Given the description of an element on the screen output the (x, y) to click on. 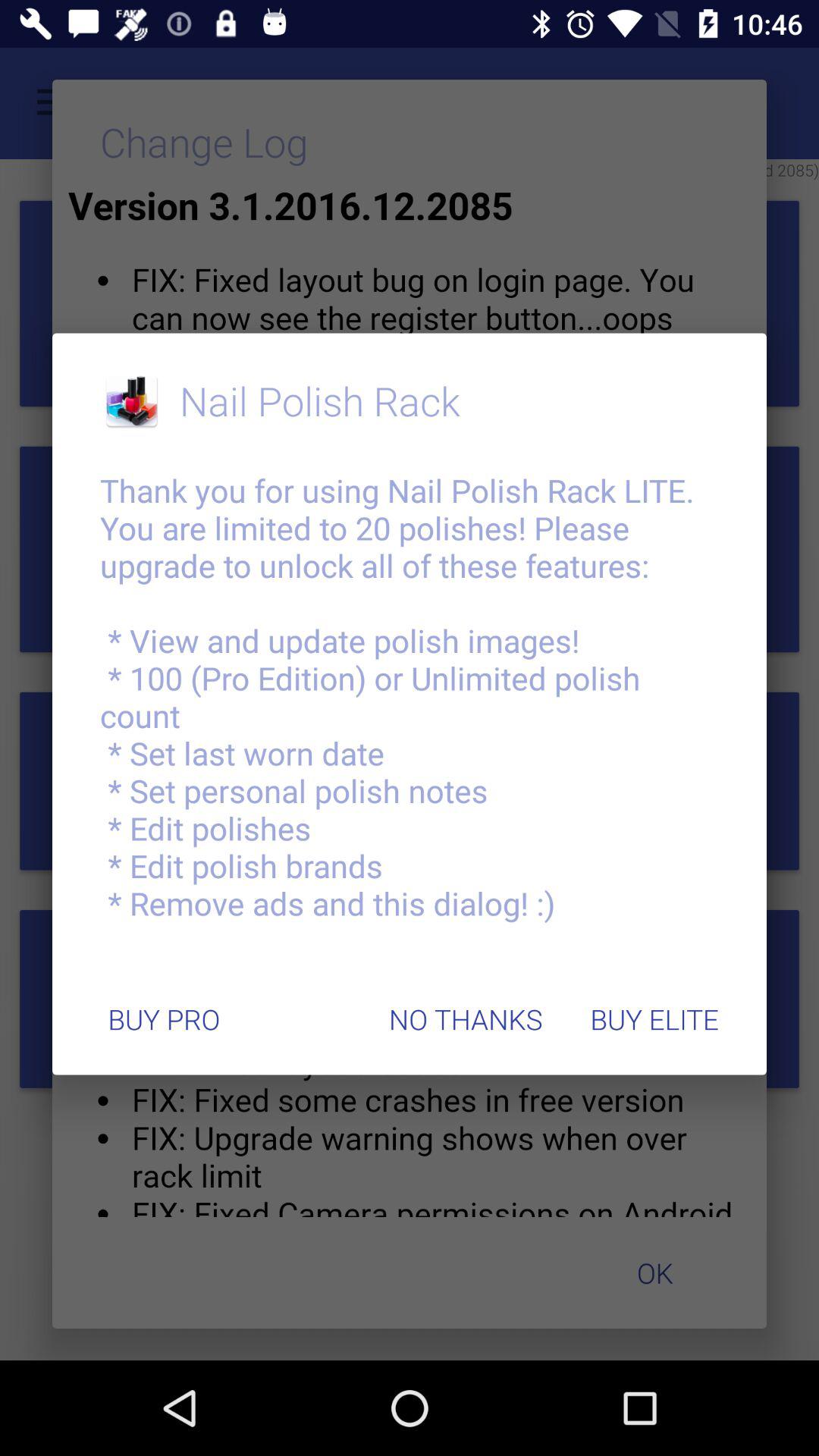
click the item below the thank you for item (465, 1018)
